Given the description of an element on the screen output the (x, y) to click on. 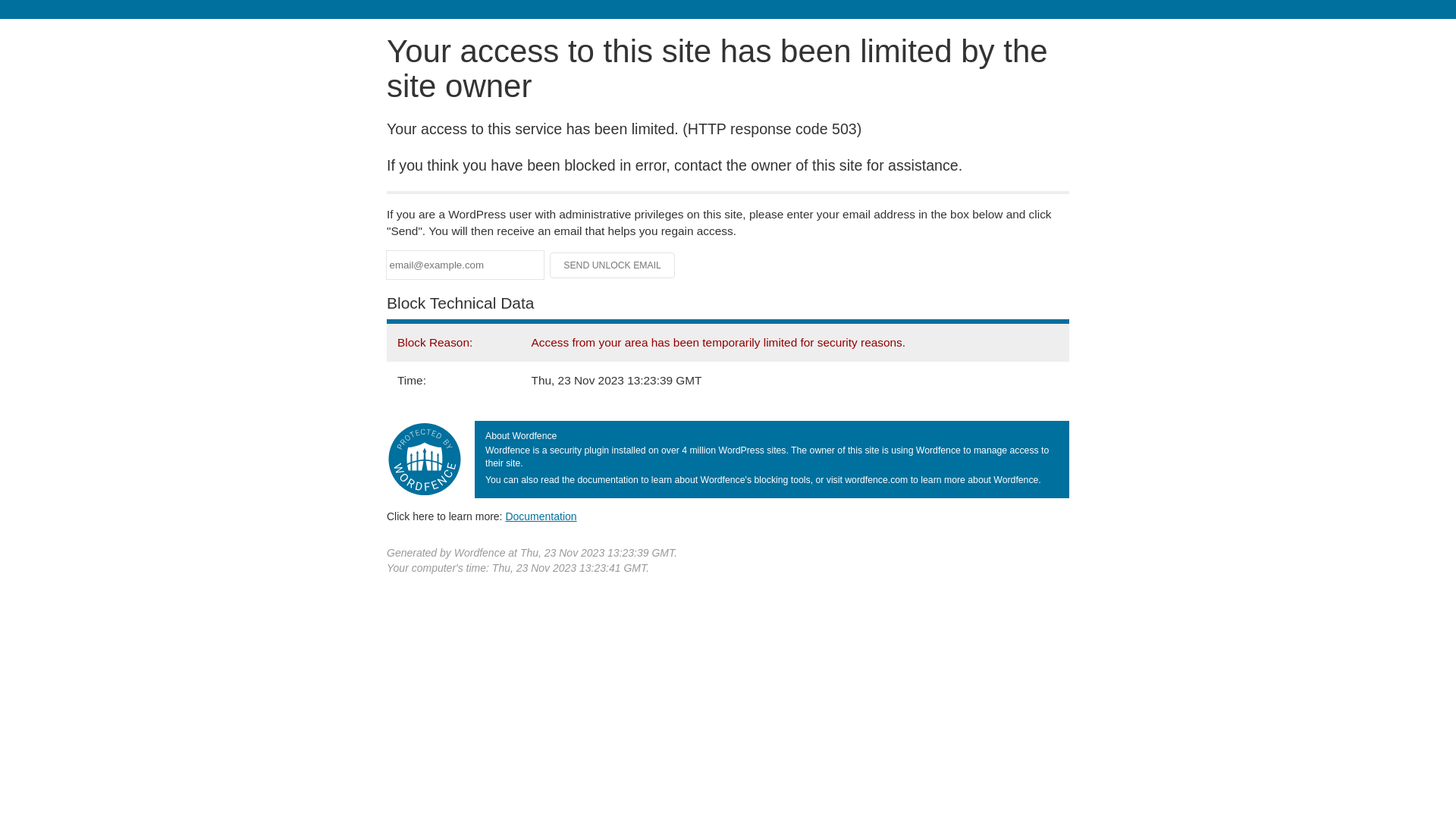
Documentation Element type: text (540, 516)
Send Unlock Email Element type: text (612, 265)
